Given the description of an element on the screen output the (x, y) to click on. 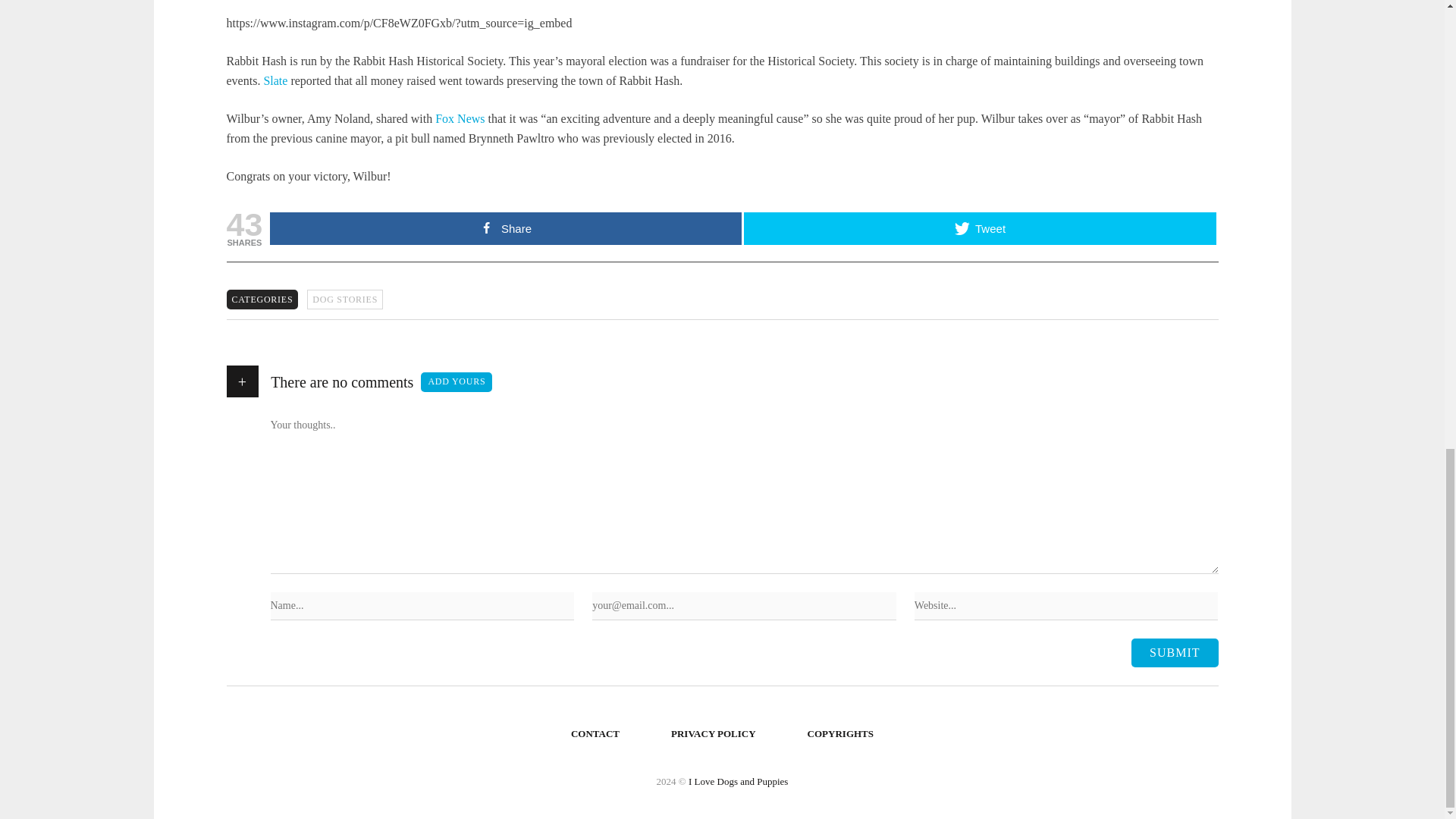
ADD YOURS (456, 382)
DOG STORIES (344, 299)
CONTACT (595, 733)
Fox News (459, 118)
Submit (1174, 652)
I Love Dogs and Puppies (737, 781)
Slate (274, 80)
View all posts in Dog Stories (344, 299)
COPYRIGHTS (839, 733)
Tweet (979, 228)
